Given the description of an element on the screen output the (x, y) to click on. 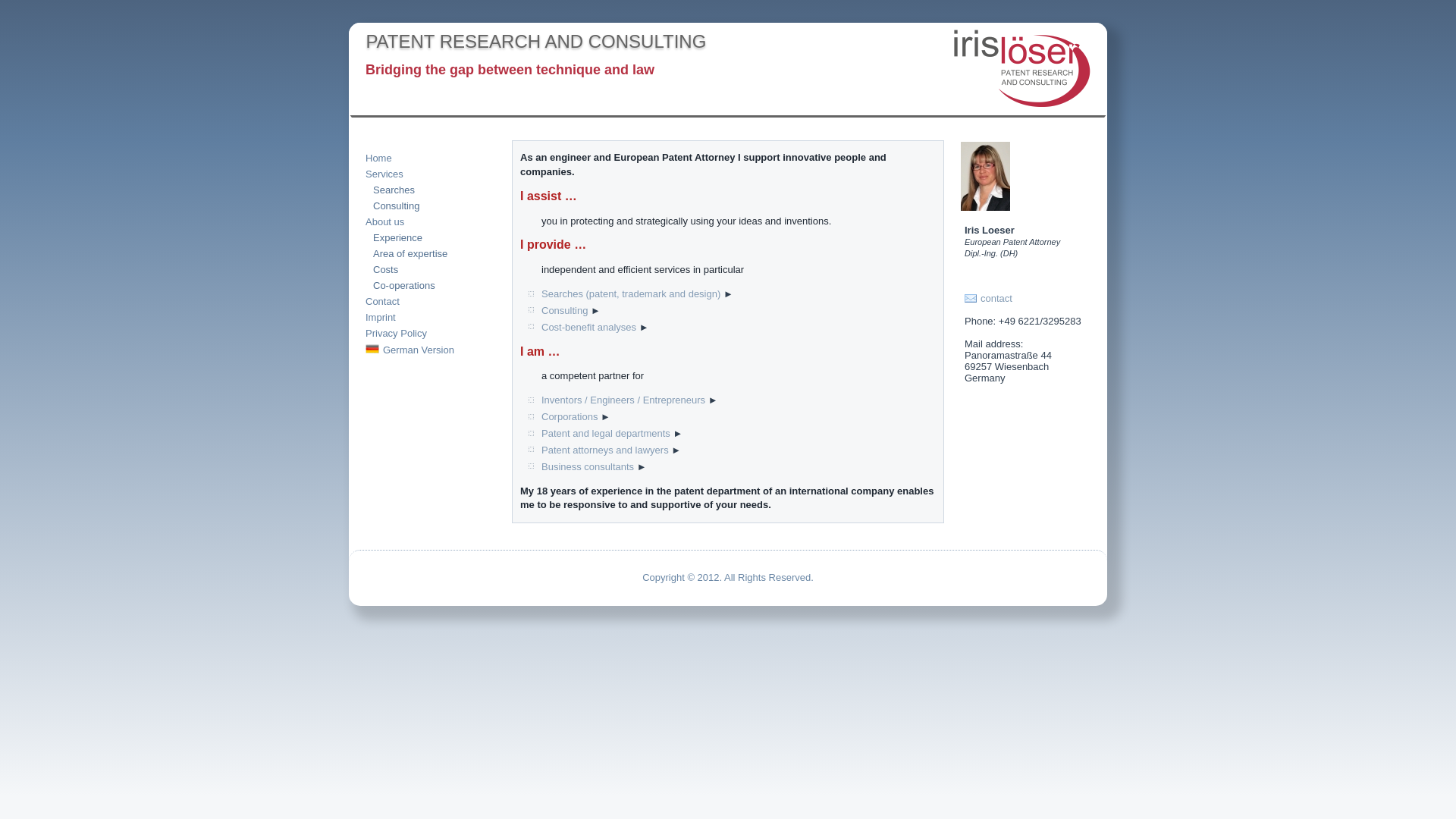
German Version (424, 348)
Contact (424, 301)
Co-operations (428, 285)
Business consultants (587, 466)
Cost-benefit analyses (588, 326)
Imprint (424, 317)
Home (424, 157)
Consulting (428, 205)
Patent and legal departments (605, 432)
Searches (428, 189)
Consulting (564, 310)
contact (995, 297)
Area of expertise (428, 253)
Services (424, 173)
Experience (428, 237)
